Given the description of an element on the screen output the (x, y) to click on. 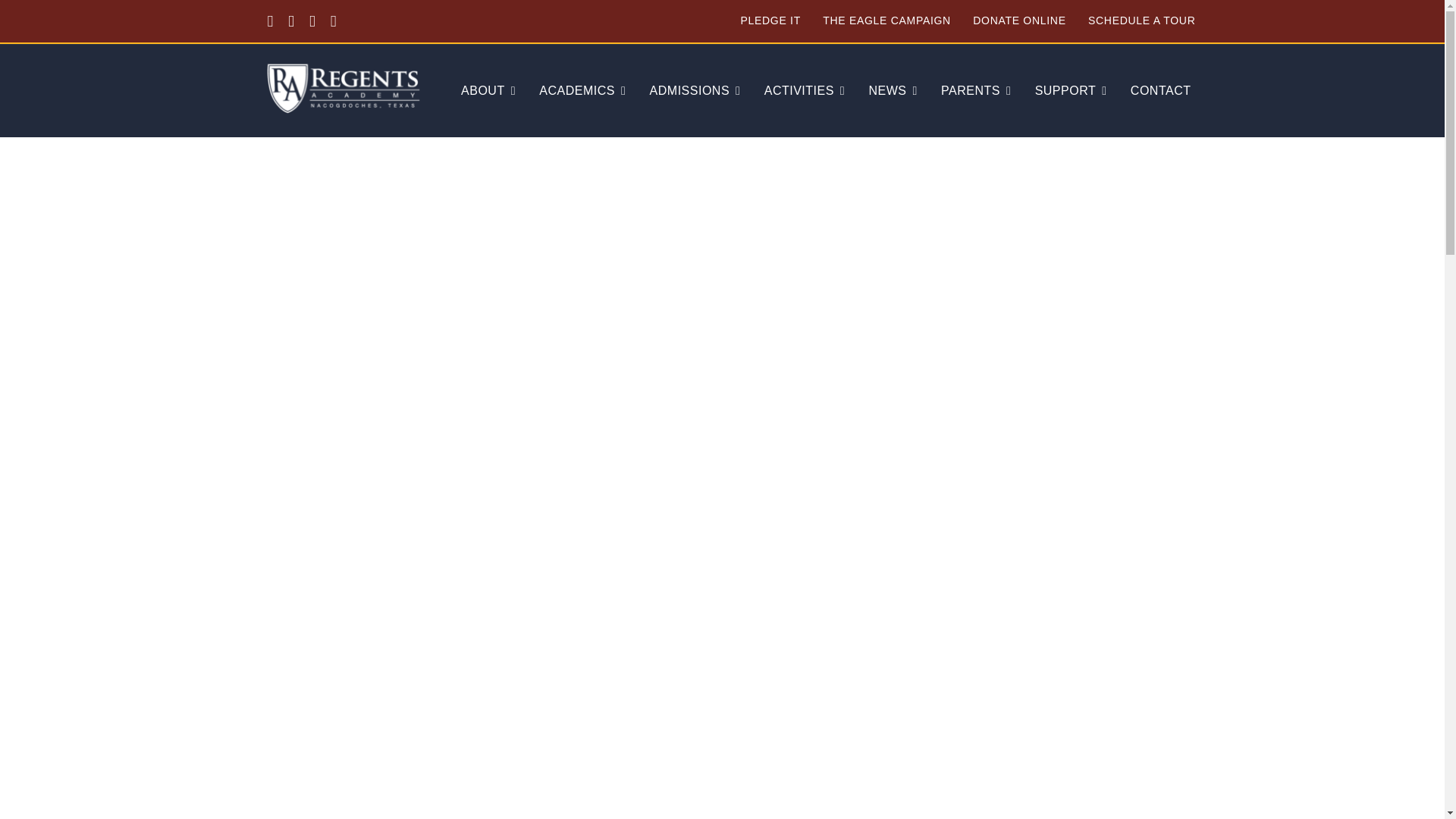
DONATE ONLINE (1018, 21)
ADMISSIONS (695, 90)
Facebook (269, 21)
PayPal (333, 21)
Rss (311, 21)
ABOUT (488, 90)
SCHEDULE A TOUR (1141, 21)
THE EAGLE CAMPAIGN (886, 21)
Instagram (291, 21)
PLEDGE IT (769, 21)
ACADEMICS (582, 90)
